Given the description of an element on the screen output the (x, y) to click on. 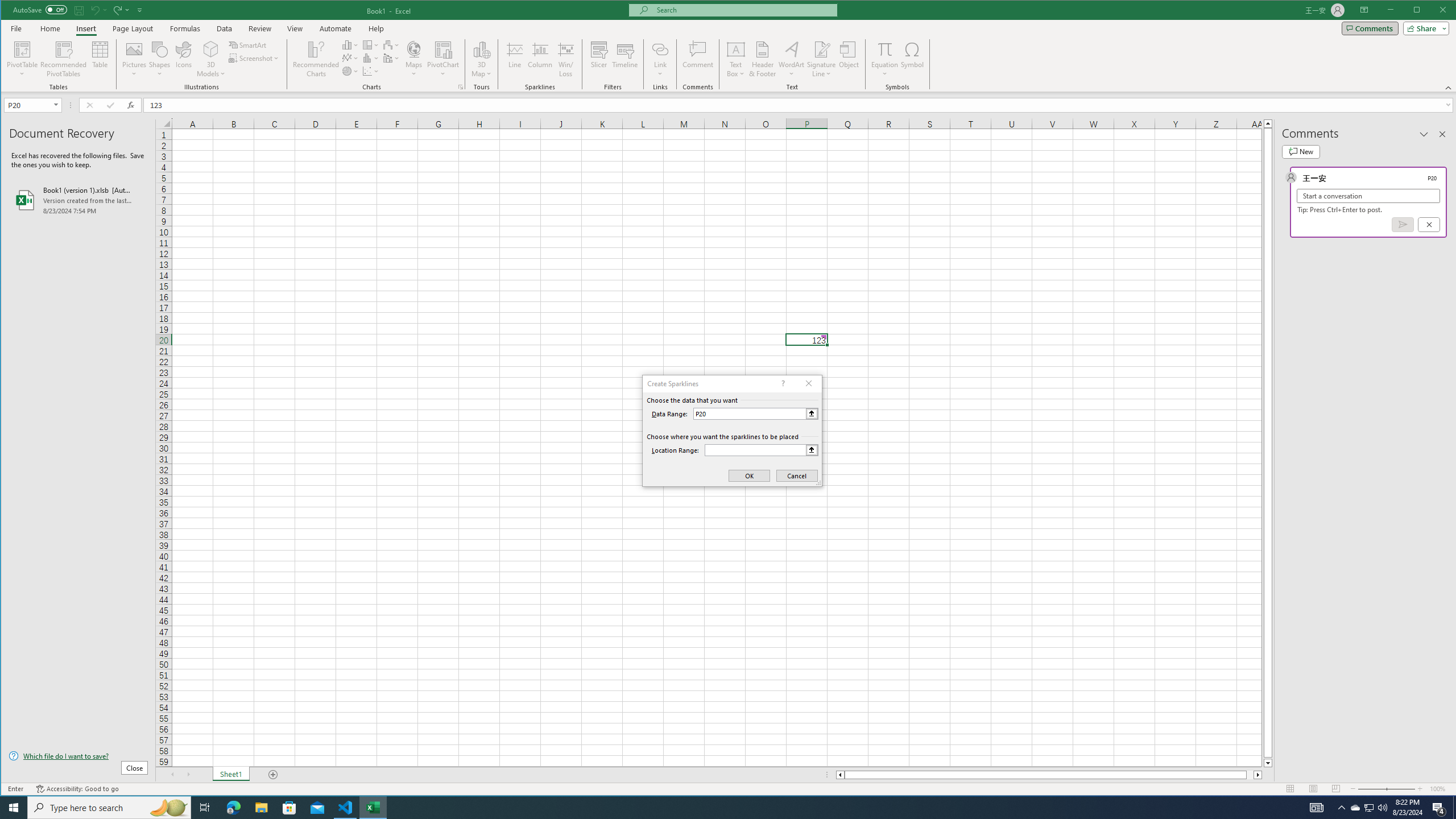
Icons (183, 59)
PivotChart (443, 48)
3D Models (211, 59)
Insert Statistic Chart (371, 57)
Insert Line or Area Chart (350, 57)
Column (540, 59)
Insert Waterfall, Funnel, Stock, Surface, or Radar Chart (391, 44)
Insert Pie or Doughnut Chart (350, 70)
